Given the description of an element on the screen output the (x, y) to click on. 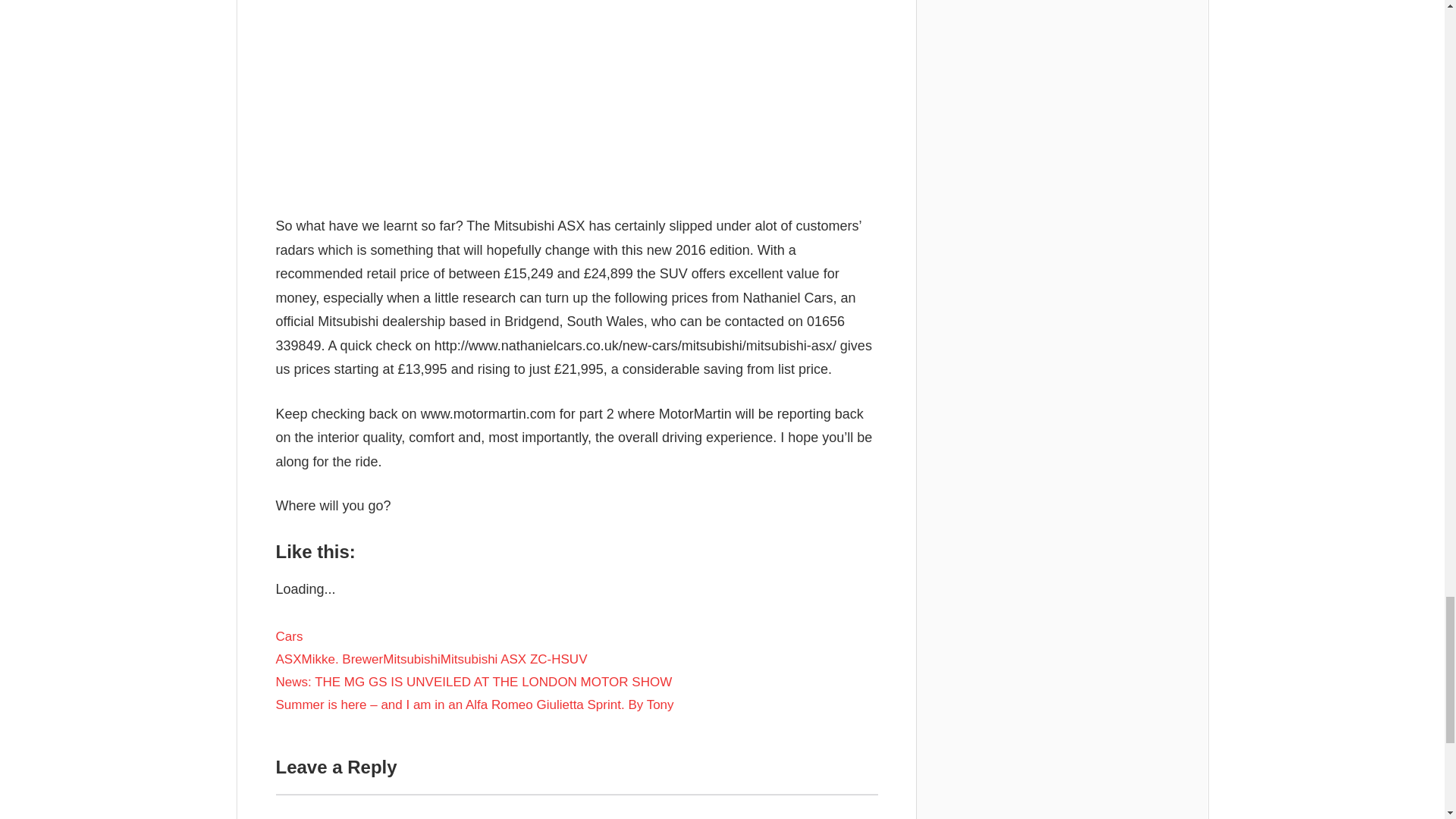
SUV (574, 658)
Mikke. Brewer (342, 658)
Comment Form (576, 806)
Mitsubishi (411, 658)
Cars (289, 636)
Mitsubishi ASX ZC-H (500, 658)
ASX (288, 658)
